Given the description of an element on the screen output the (x, y) to click on. 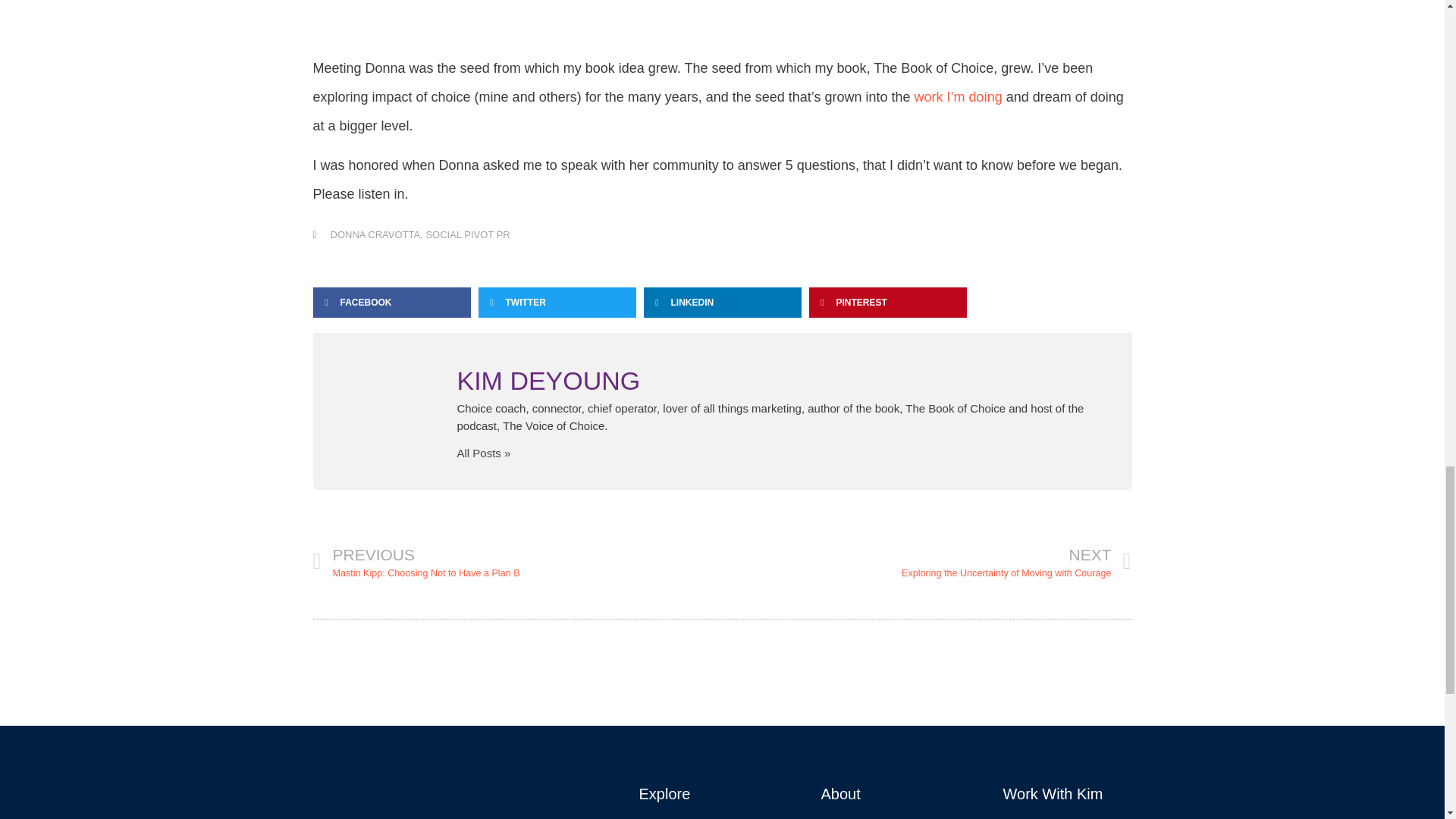
SOCIAL PIVOT PR (467, 234)
KIM DEYOUNG (777, 380)
DONNA CRAVOTTA (517, 561)
